Given the description of an element on the screen output the (x, y) to click on. 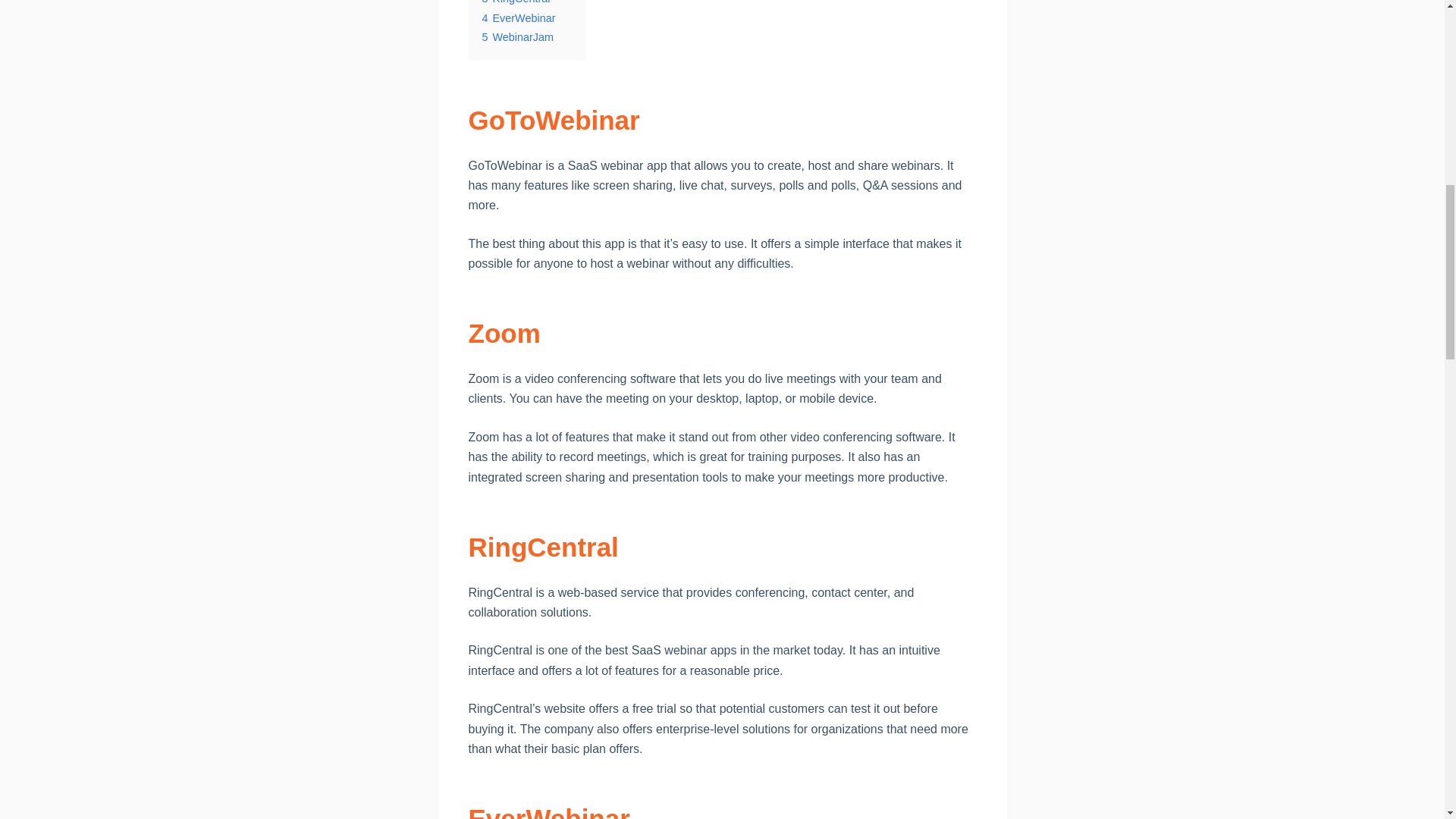
EverWebinar (549, 811)
4 EverWebinar (518, 18)
RingCentral (543, 546)
3 RingCentral (515, 2)
Zoom (504, 333)
5 WebinarJam (517, 37)
GoToWebinar (554, 120)
